Given the description of an element on the screen output the (x, y) to click on. 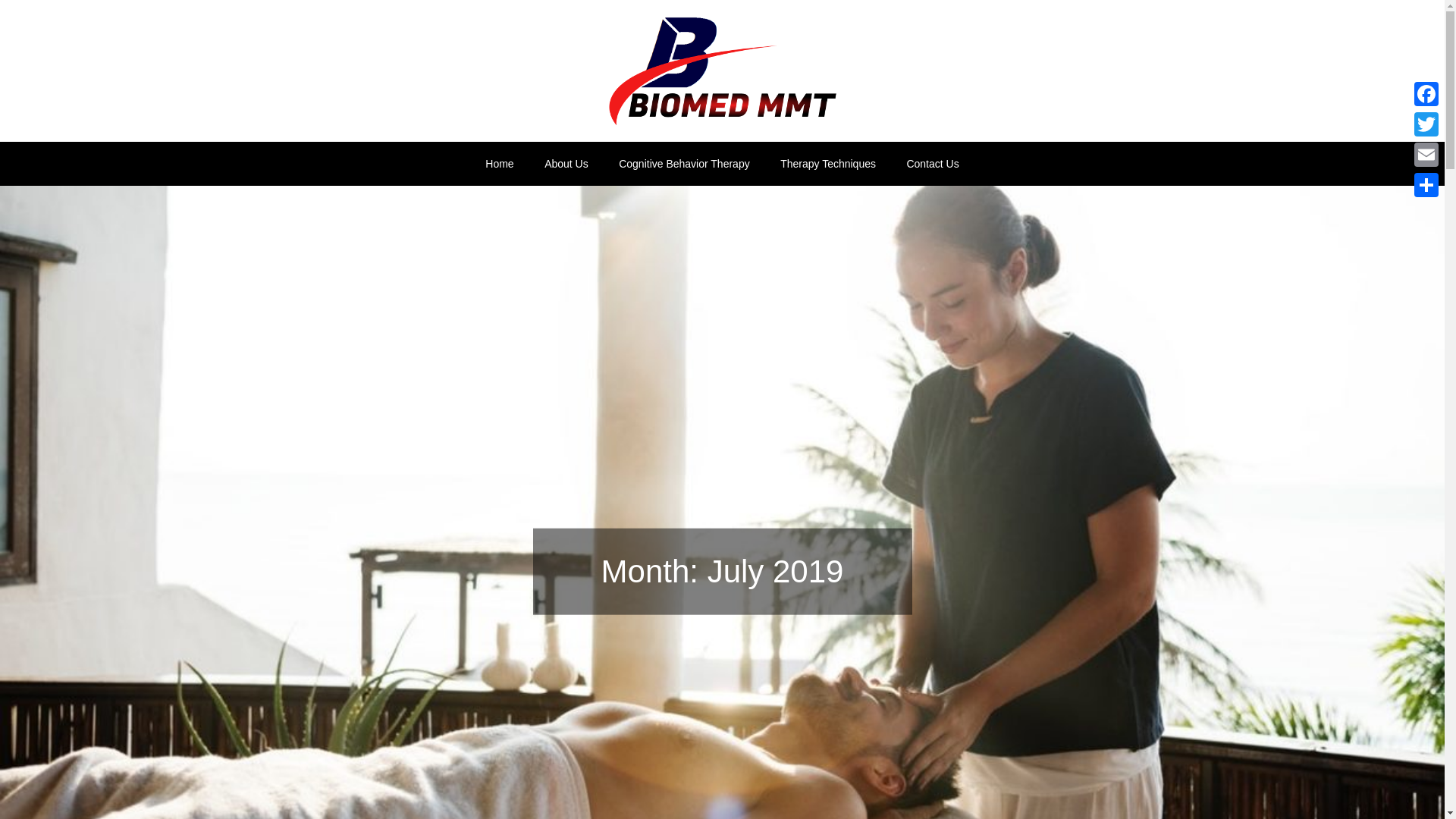
Twitter (1425, 123)
Contact Us (932, 163)
Facebook (1425, 93)
Email (1425, 154)
Home (499, 163)
Cognitive Behavior Therapy (683, 163)
About Us (566, 163)
Therapy Techniques (828, 163)
